Given the description of an element on the screen output the (x, y) to click on. 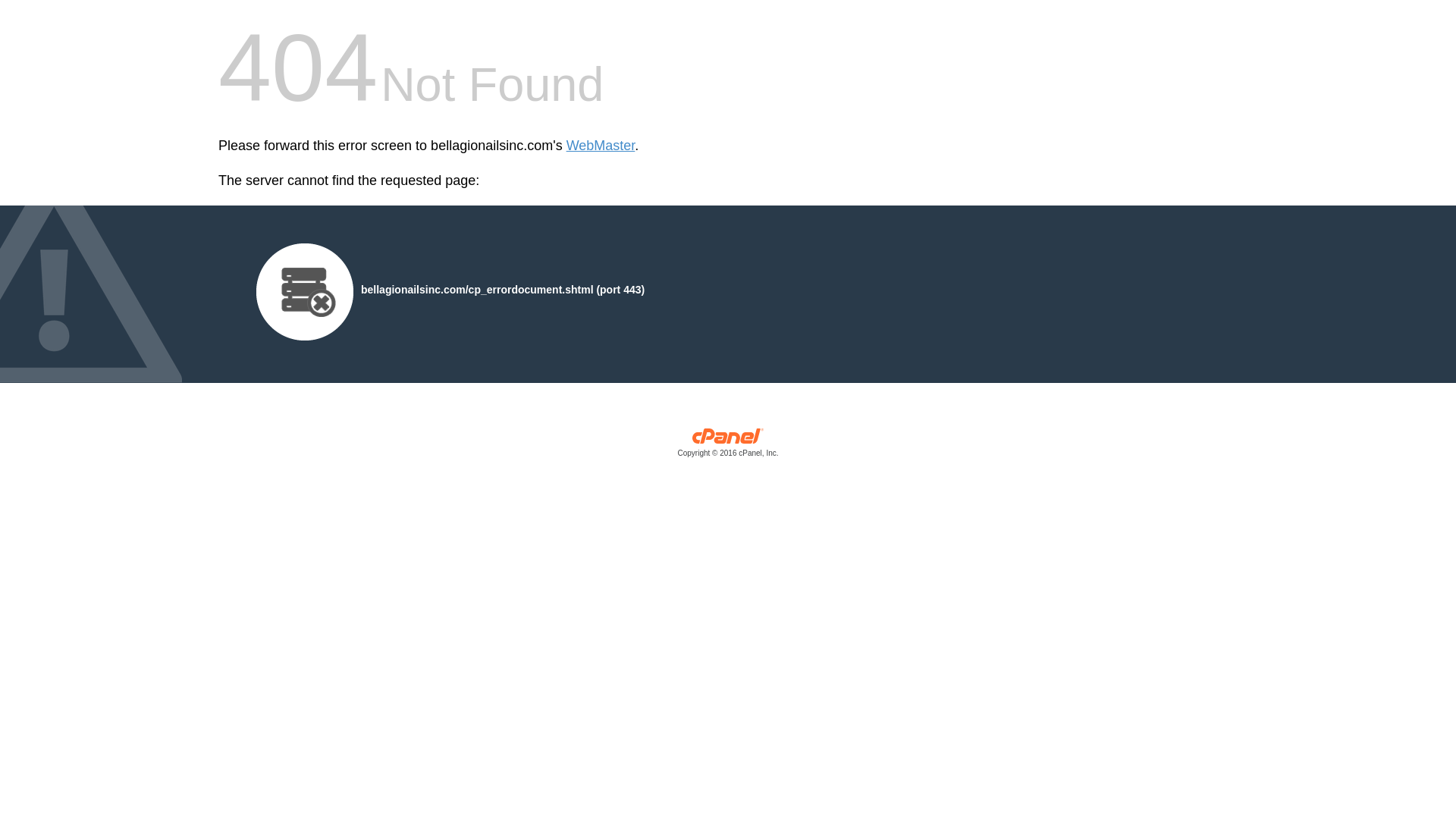
cPanel, Inc. (727, 446)
WebMaster (600, 145)
